Given the description of an element on the screen output the (x, y) to click on. 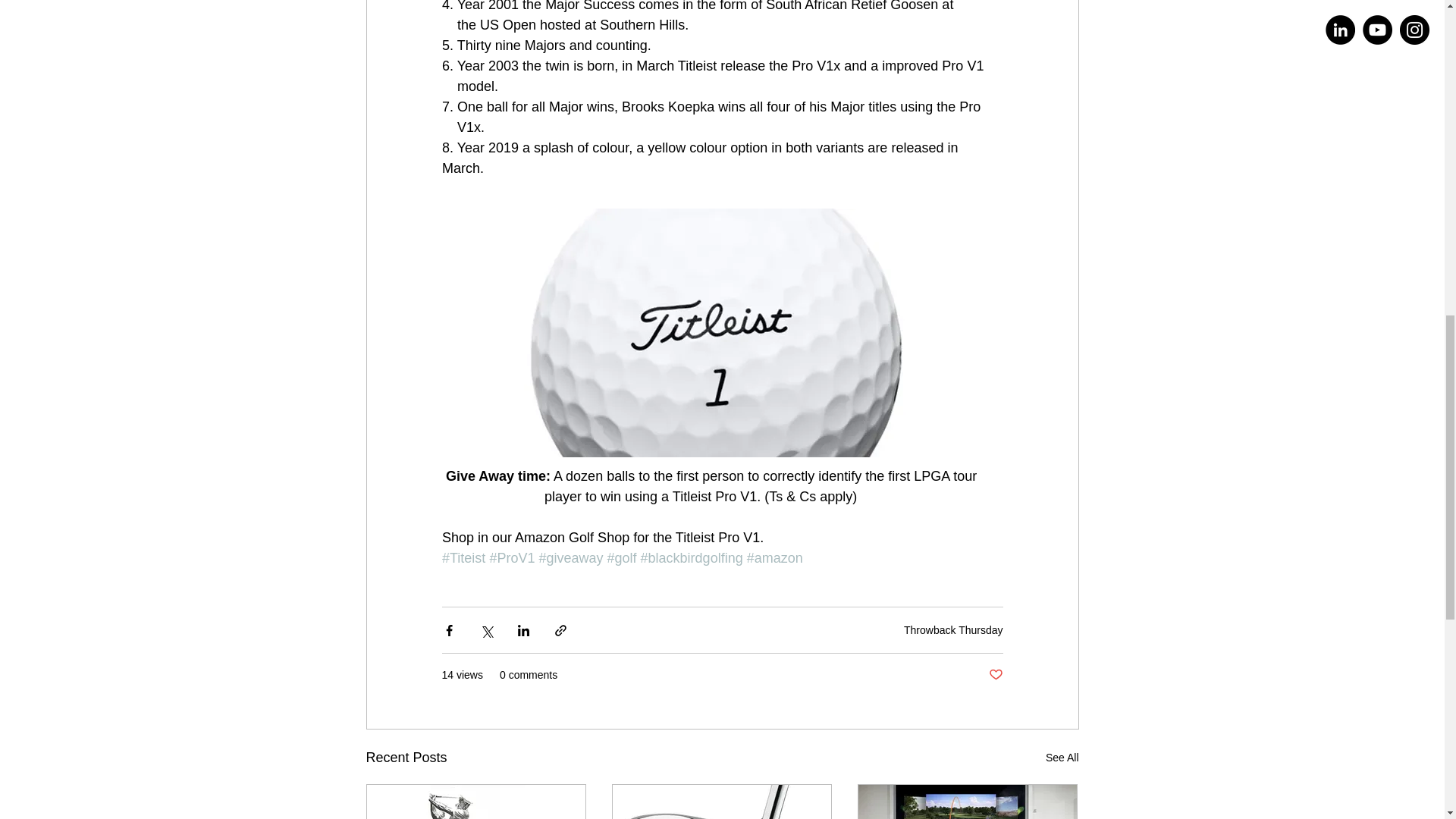
Post not marked as liked (995, 675)
See All (1061, 757)
Throwback Thursday (953, 630)
